Given the description of an element on the screen output the (x, y) to click on. 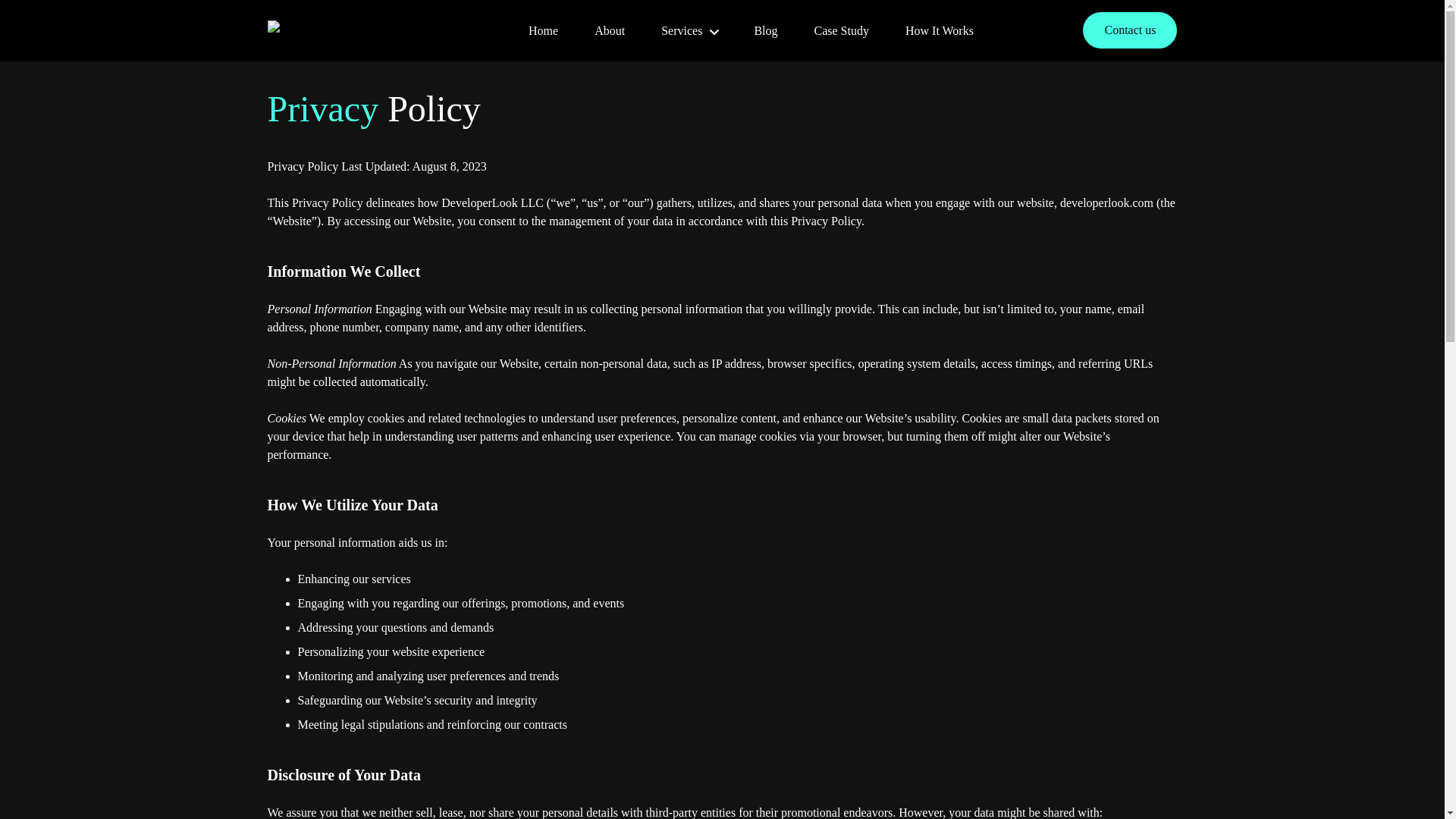
Contact us (1129, 30)
Services (690, 30)
About (610, 30)
How It Works (940, 30)
Blog (767, 30)
Contact us (1129, 29)
Home (544, 30)
Case Study (842, 30)
